Given the description of an element on the screen output the (x, y) to click on. 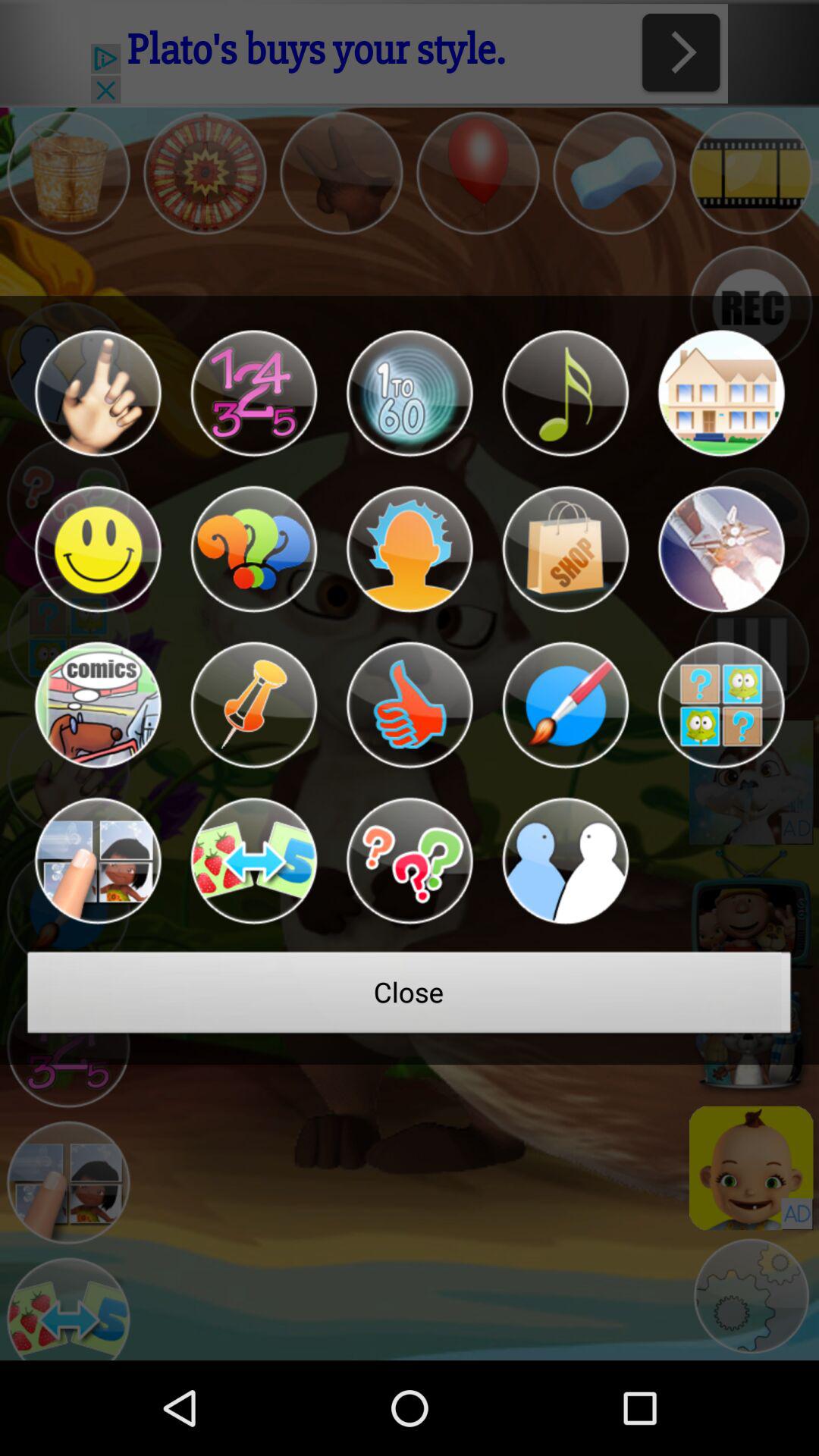
press the icon above the close button (565, 861)
